Given the description of an element on the screen output the (x, y) to click on. 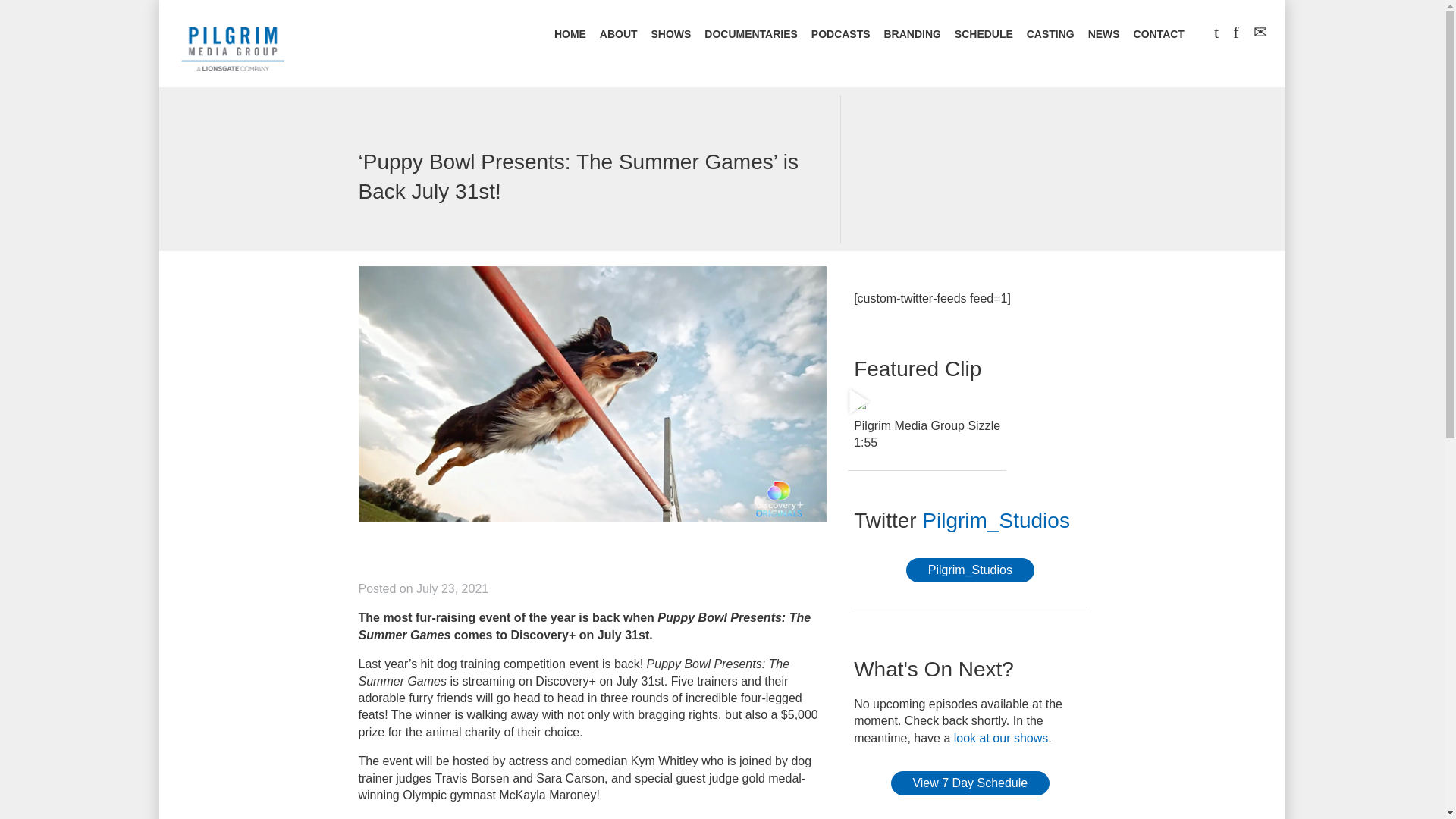
View 7 Day Schedule (970, 783)
Follow us on Twitter (995, 520)
ABOUT (618, 35)
CASTING (1050, 35)
Pilgrim Media Group (232, 46)
July 23, 2021 (451, 588)
BRANDING (911, 35)
View our shows (1000, 738)
3:19 pm (451, 588)
